Given the description of an element on the screen output the (x, y) to click on. 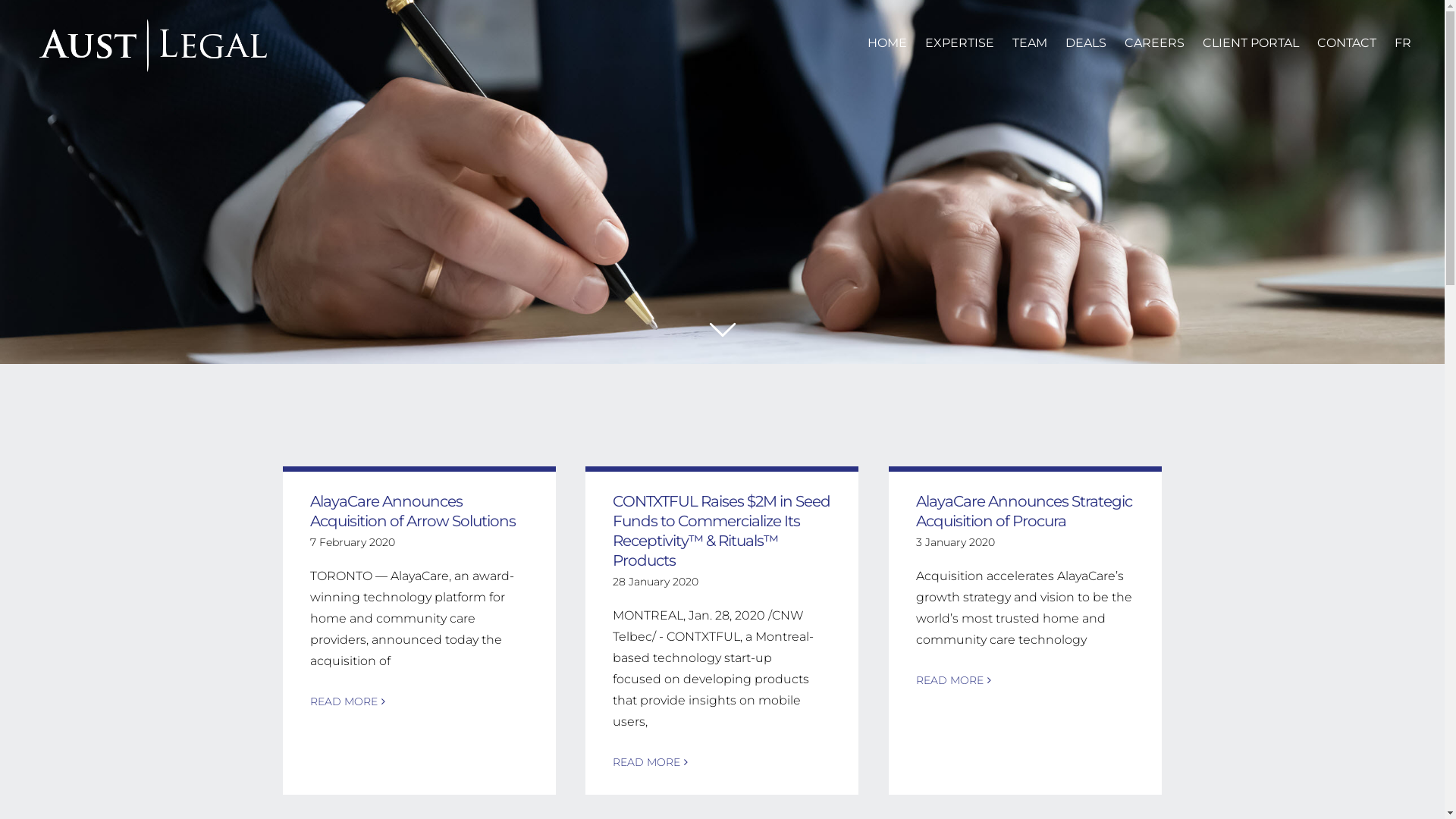
AlayaCare Announces Acquisition of Arrow Solutions Element type: text (411, 511)
READ MORE Element type: text (949, 680)
DEALS Element type: text (1094, 42)
CAREERS Element type: text (1163, 42)
CLIENT PORTAL Element type: text (1259, 42)
FR Element type: text (1411, 42)
READ MORE Element type: text (646, 761)
CONTACT Element type: text (1355, 42)
TEAM Element type: text (1038, 42)
HOME Element type: text (896, 42)
AlayaCare Announces Strategic Acquisition of Procura Element type: text (1024, 511)
EXPERTISE Element type: text (968, 42)
READ MORE Element type: text (342, 701)
